Given the description of an element on the screen output the (x, y) to click on. 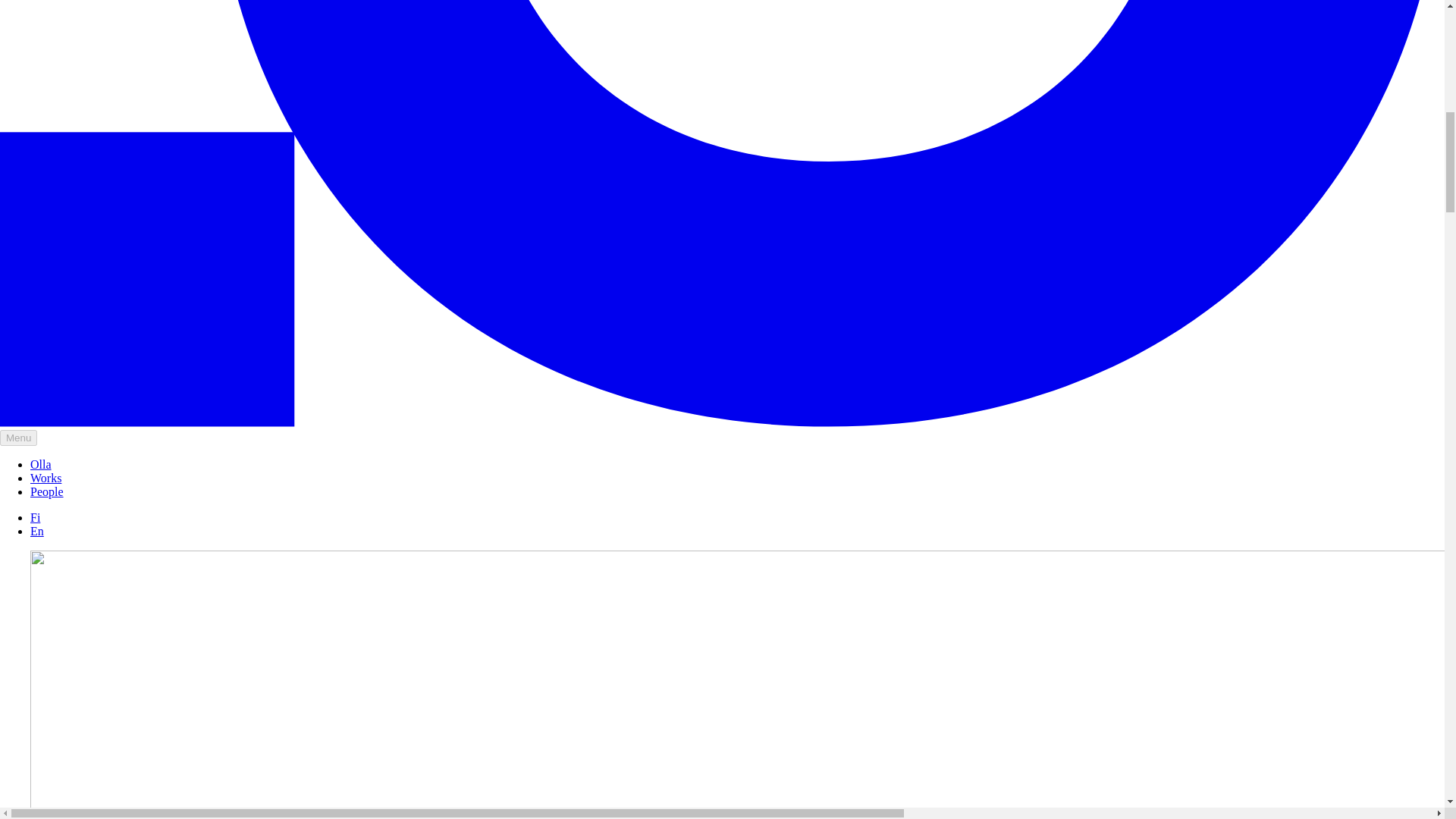
Works (45, 477)
Menu (18, 437)
People (47, 491)
Olla (40, 463)
En (36, 530)
Fi (35, 517)
